Given the description of an element on the screen output the (x, y) to click on. 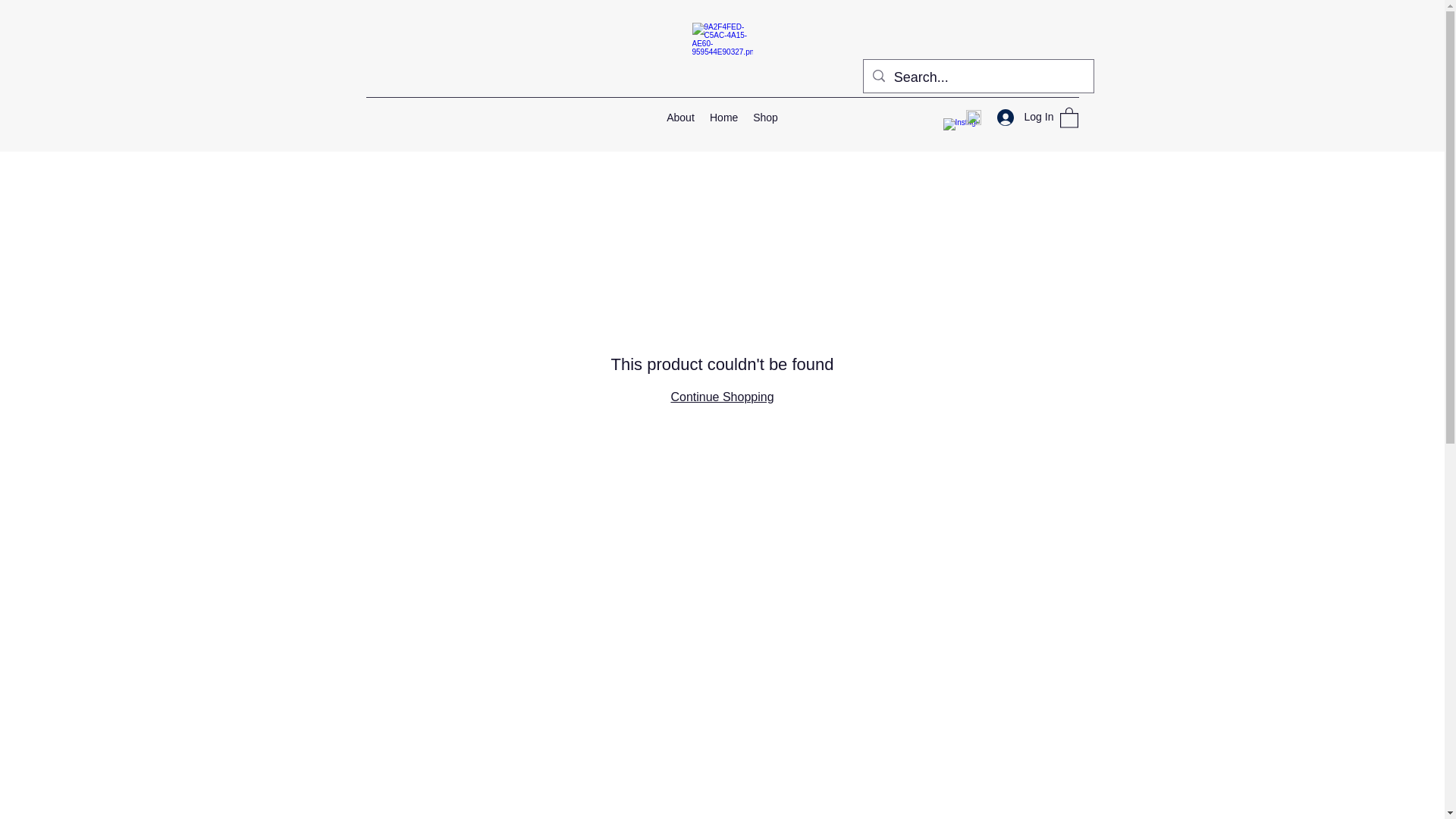
Continue Shopping (721, 396)
Log In (1019, 117)
Shop (765, 117)
About (680, 117)
Home (723, 117)
